Given the description of an element on the screen output the (x, y) to click on. 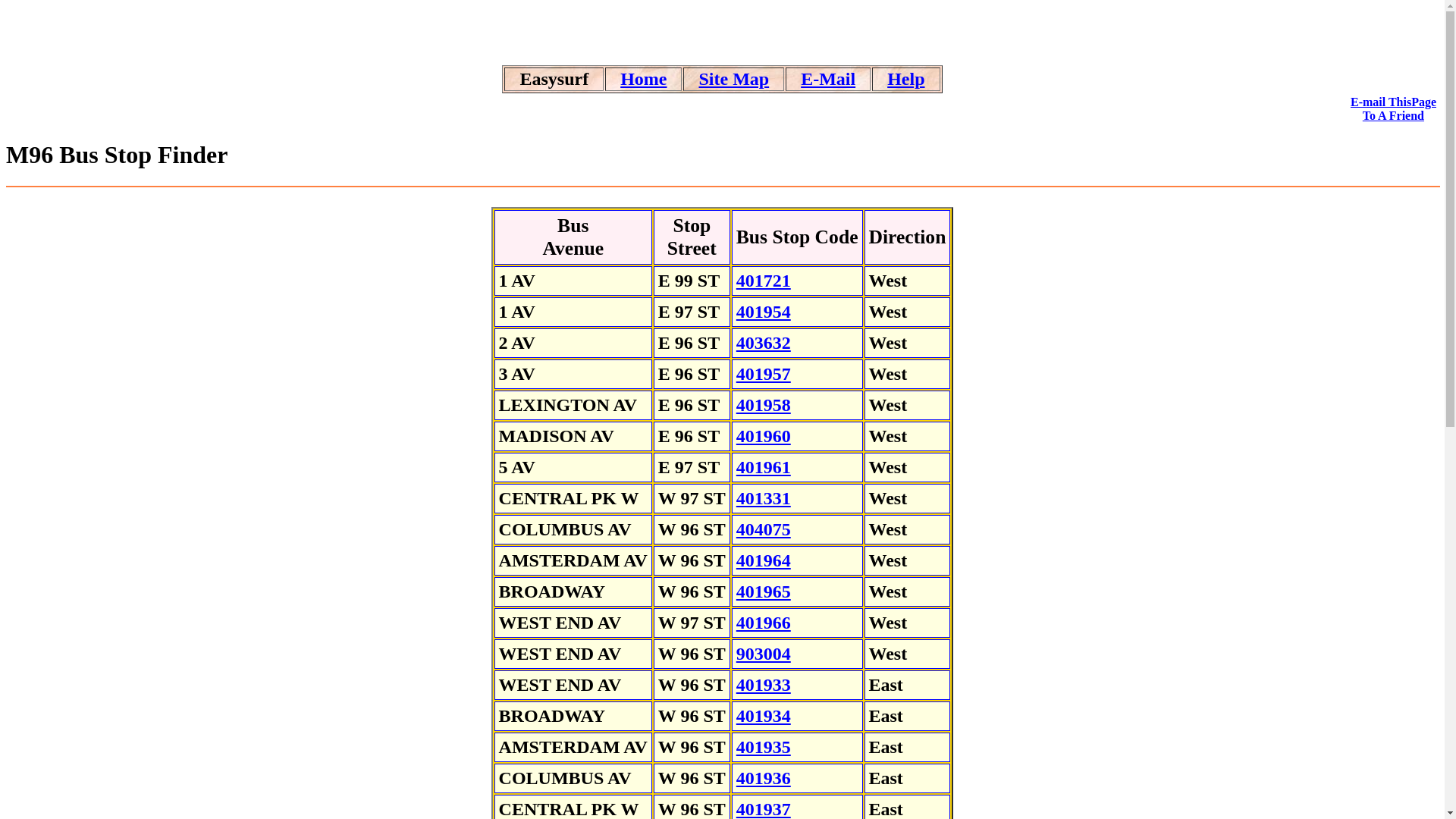
401721 Element type: text (763, 280)
401957 Element type: text (763, 373)
401964 Element type: text (763, 560)
401965 Element type: text (763, 591)
401936 Element type: text (763, 777)
401331 Element type: text (763, 498)
403632 Element type: text (763, 342)
401960 Element type: text (763, 435)
401935 Element type: text (763, 746)
903004 Element type: text (763, 653)
401966 Element type: text (763, 622)
401933 Element type: text (763, 684)
Advertisement Element type: hover (721, 28)
   Easysurf    Element type: text (553, 80)
401958 Element type: text (763, 404)
E-Mail Element type: text (827, 78)
401954 Element type: text (763, 311)
E-mail ThisPage
To A Friend Element type: text (1393, 108)
Help Element type: text (905, 78)
401934 Element type: text (763, 715)
401961 Element type: text (763, 466)
404075 Element type: text (763, 529)
Home Element type: text (643, 78)
Site Map Element type: text (733, 78)
